Given the description of an element on the screen output the (x, y) to click on. 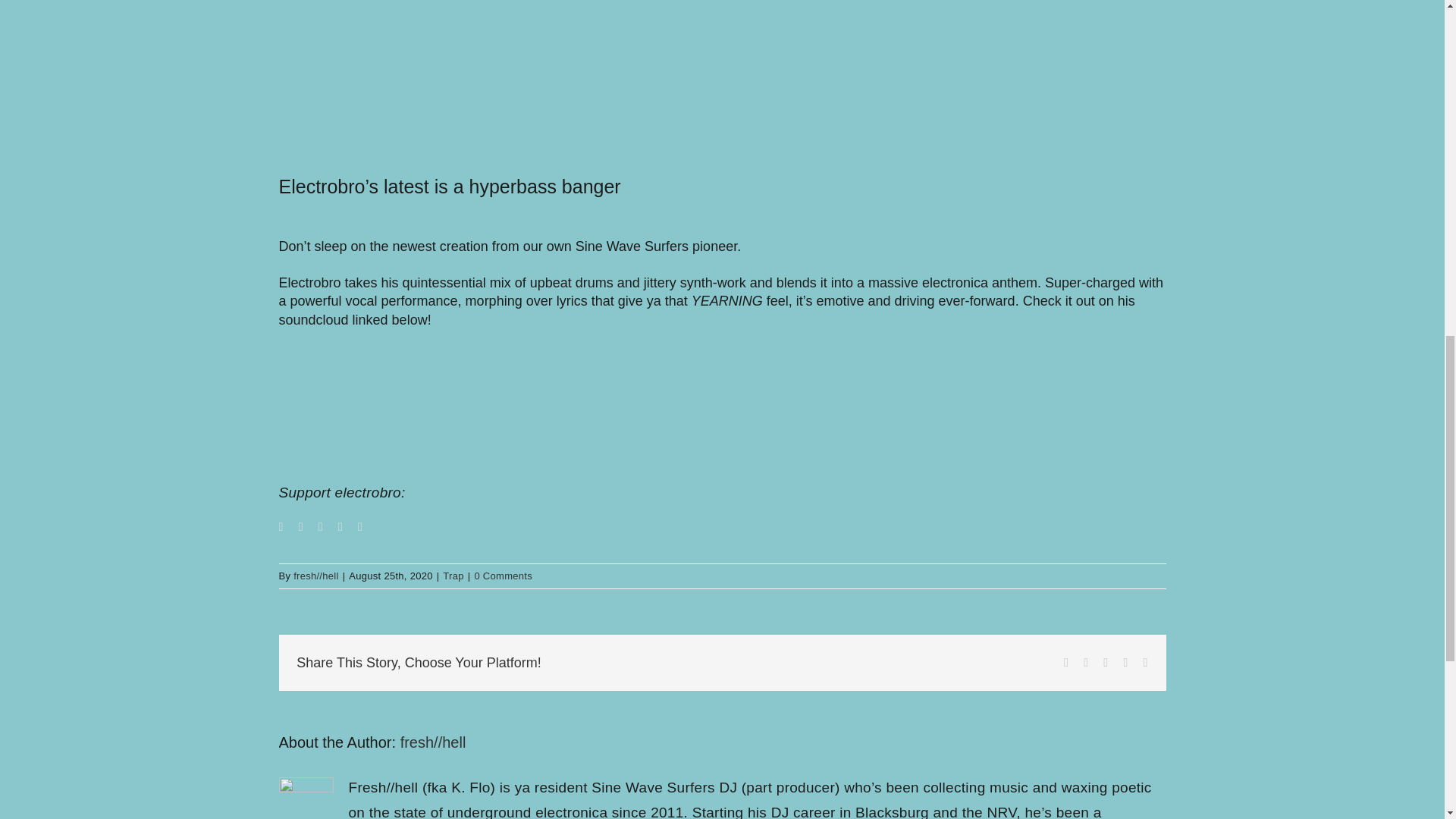
Reddit (1105, 662)
Tumblr (1124, 662)
Twitter (1085, 662)
View Larger Image (722, 66)
SoundCloud (360, 526)
Trap (452, 575)
0 Comments (503, 575)
Facebook (1066, 662)
Twitter (1085, 662)
Facebook (281, 526)
Instagram (320, 526)
Twitch (339, 526)
Twitter (300, 526)
Facebook (1066, 662)
Reddit (1105, 662)
